Given the description of an element on the screen output the (x, y) to click on. 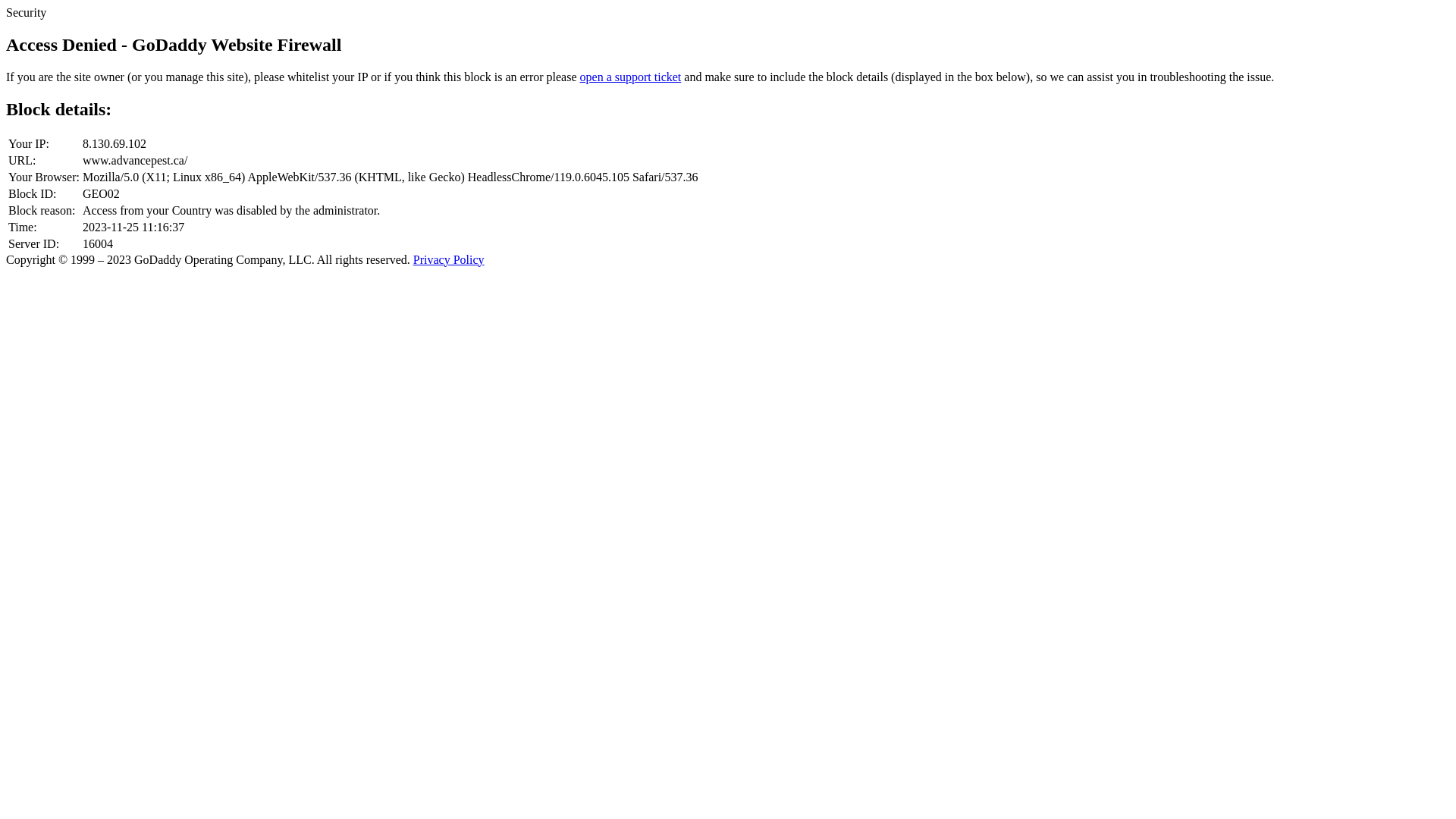
Privacy Policy Element type: text (448, 259)
open a support ticket Element type: text (630, 76)
